Given the description of an element on the screen output the (x, y) to click on. 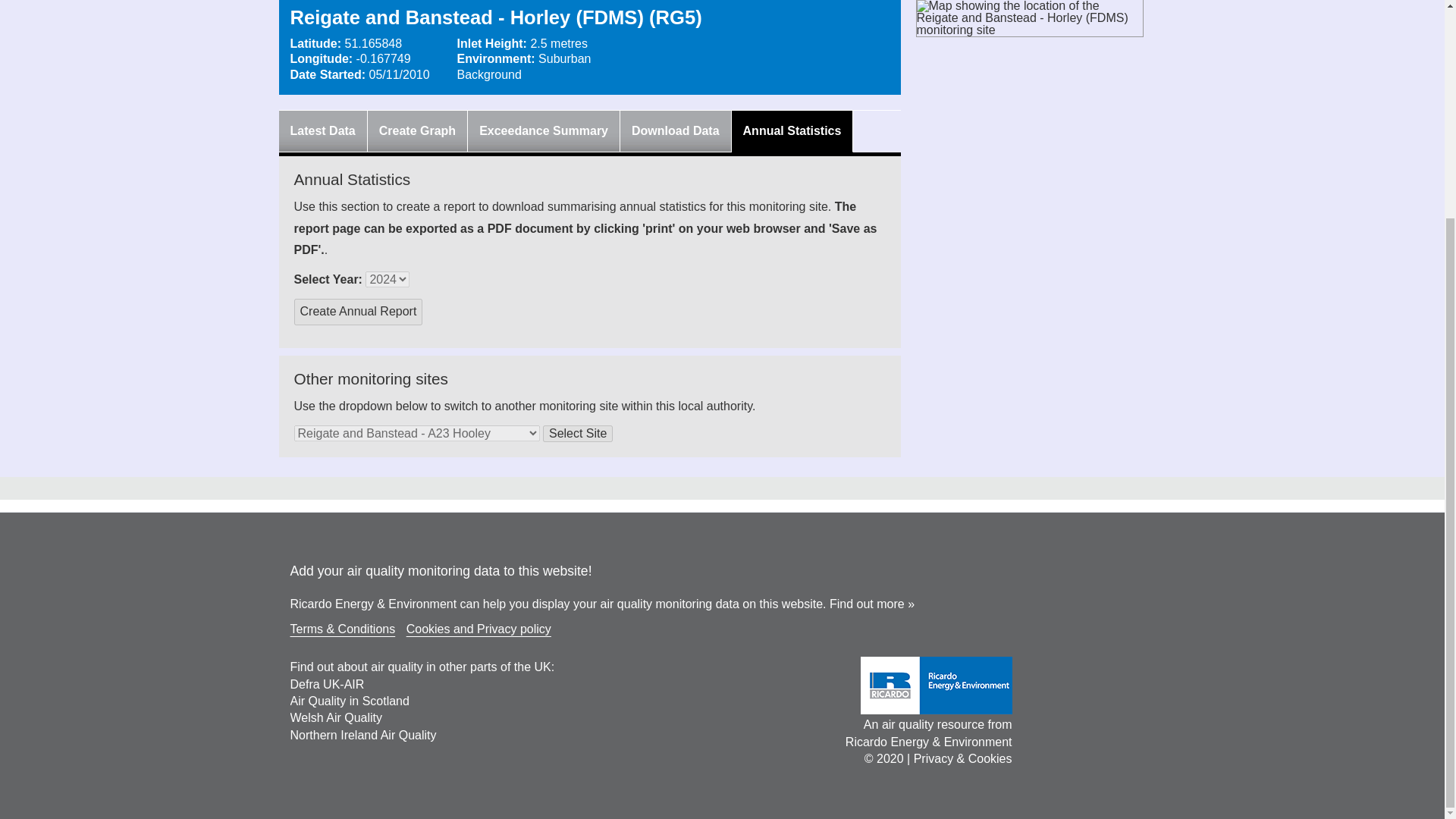
Cookies and Privacy policy (478, 628)
Latest Data (322, 130)
Air Quality in Scotland (349, 700)
Welsh Air Quality (335, 717)
Download Data (675, 130)
Create Graph (416, 130)
Defra UK-AIR (326, 684)
Annual Statistics (791, 130)
Create Annual Report (358, 311)
Exceedance Summary (543, 130)
Northern Ireland Air Quality (362, 735)
Select Site (577, 433)
Select Site (577, 433)
Create Annual Report (358, 311)
